Given the description of an element on the screen output the (x, y) to click on. 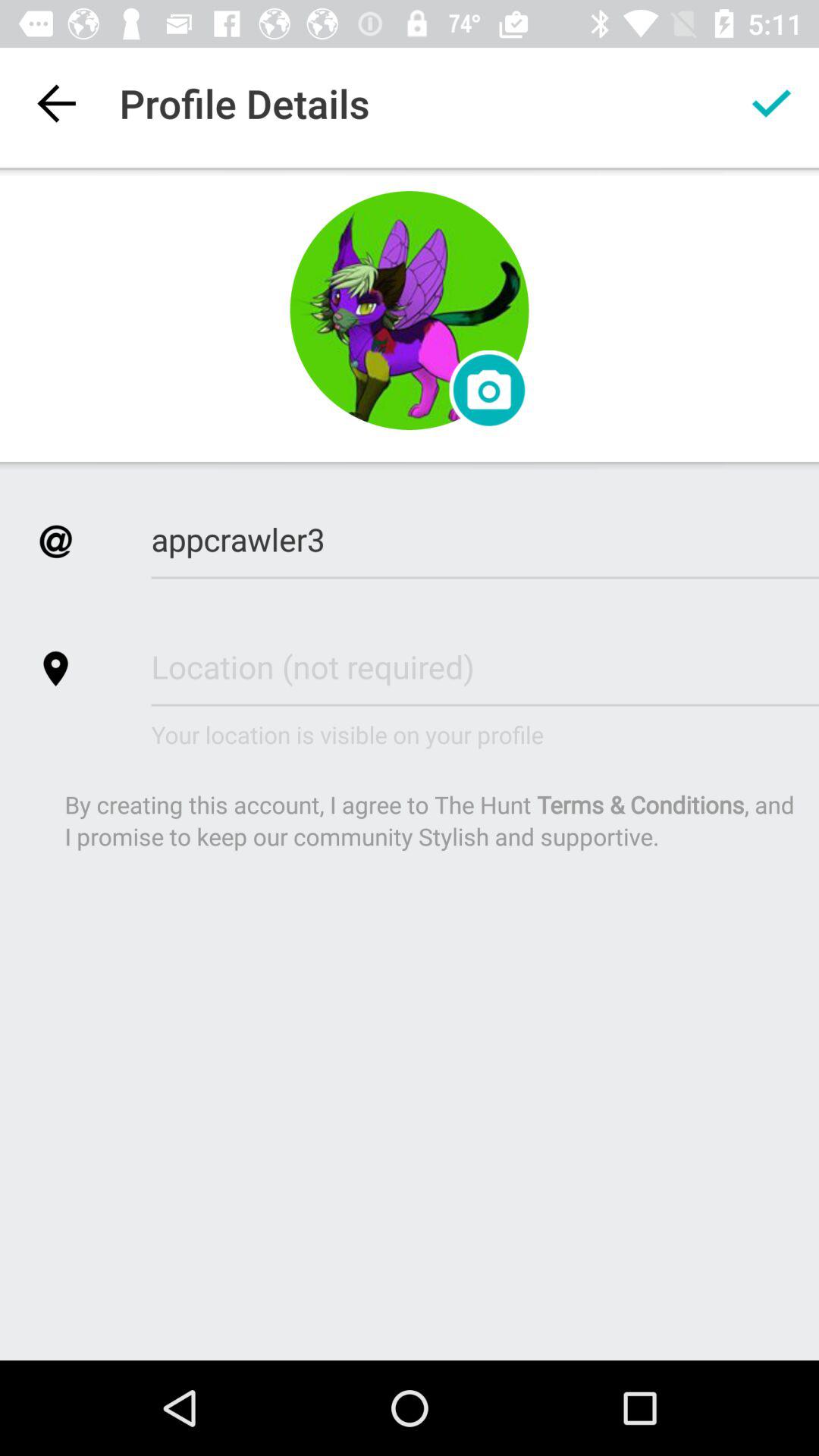
open the app to the right of profile details app (771, 103)
